Given the description of an element on the screen output the (x, y) to click on. 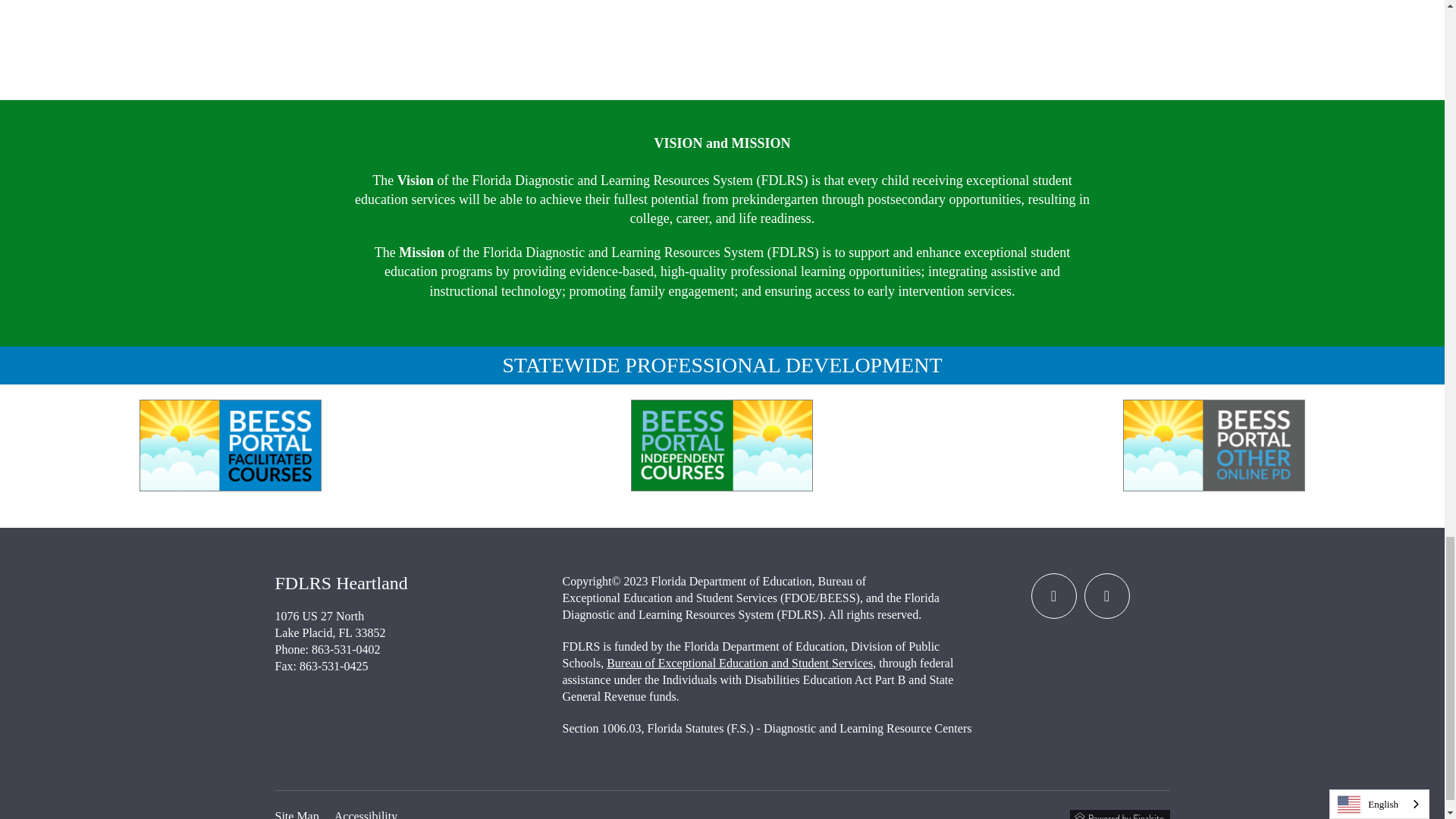
Powered by Finalsite opens in a new window (1118, 814)
